Given the description of an element on the screen output the (x, y) to click on. 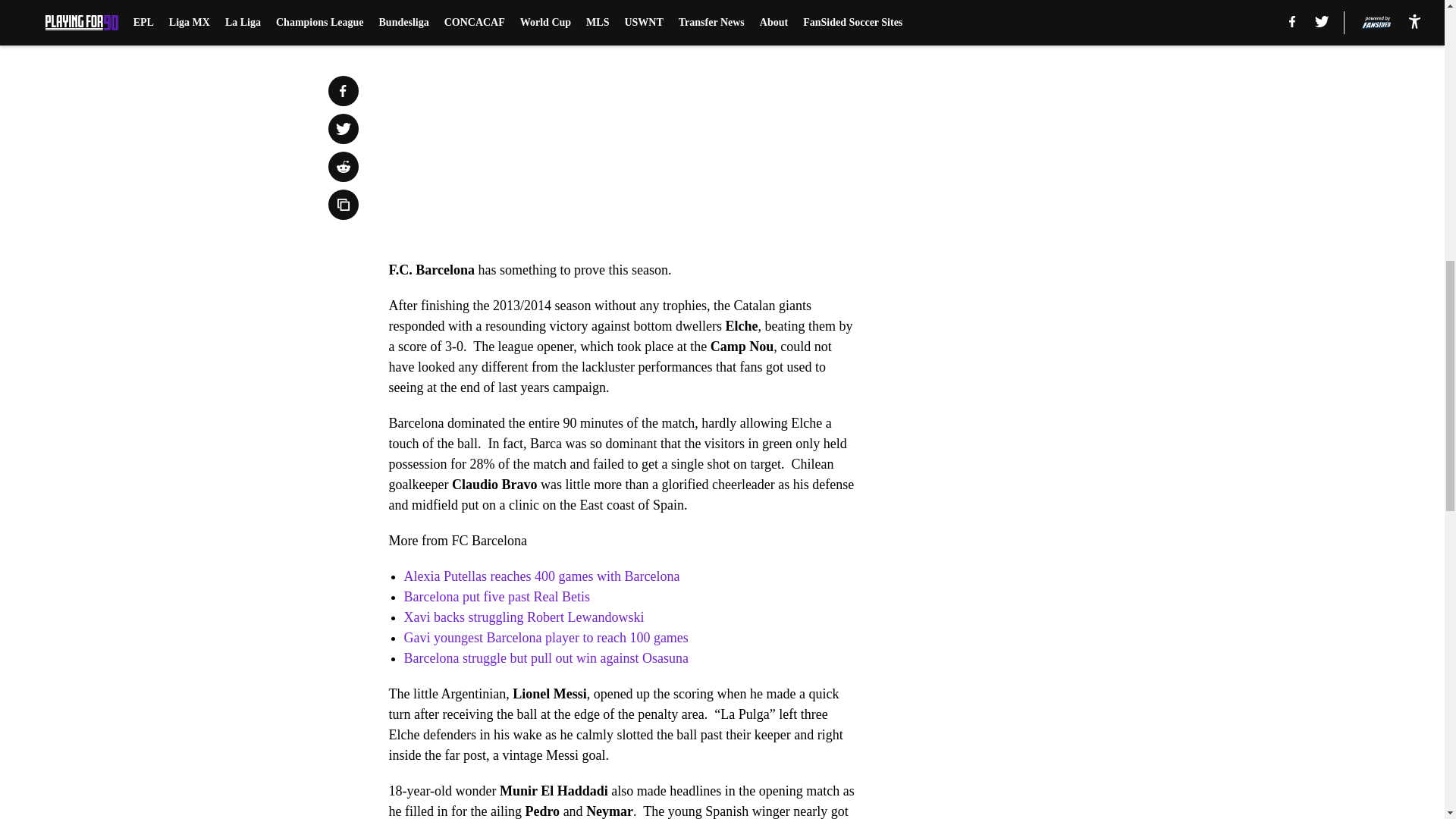
Barcelona struggle but pull out win against Osasuna (545, 657)
Barcelona put five past Real Betis (496, 596)
Alexia Putellas reaches 400 games with Barcelona (541, 575)
Gavi youngest Barcelona player to reach 100 games (545, 637)
Xavi backs struggling Robert Lewandowski (523, 616)
